Given the description of an element on the screen output the (x, y) to click on. 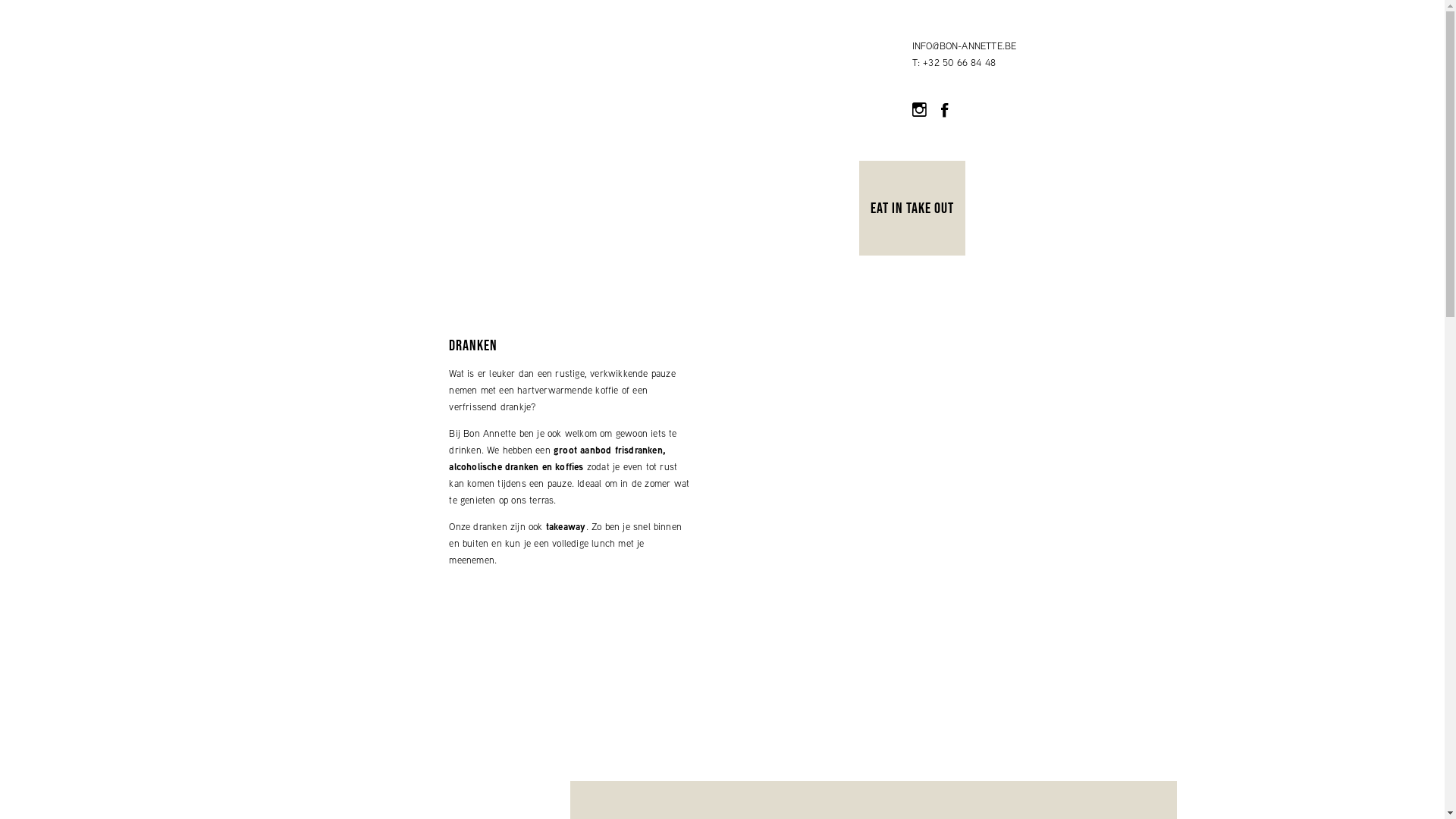
WARME GERECHTEN Element type: text (429, 127)
DRANKEN Element type: text (706, 127)
INFO@BON-ANNETTE.BE Element type: text (964, 45)
CONTACT Element type: text (757, 127)
BROODJES Element type: text (312, 127)
T: +32 50 66 84 48 Element type: text (954, 62)
BESTELLEN Element type: text (815, 127)
PANINI Element type: text (360, 127)
SALADES EN DAGVERSE SOEP Element type: text (552, 127)
DIVERSEN Element type: text (652, 127)
